Given the description of an element on the screen output the (x, y) to click on. 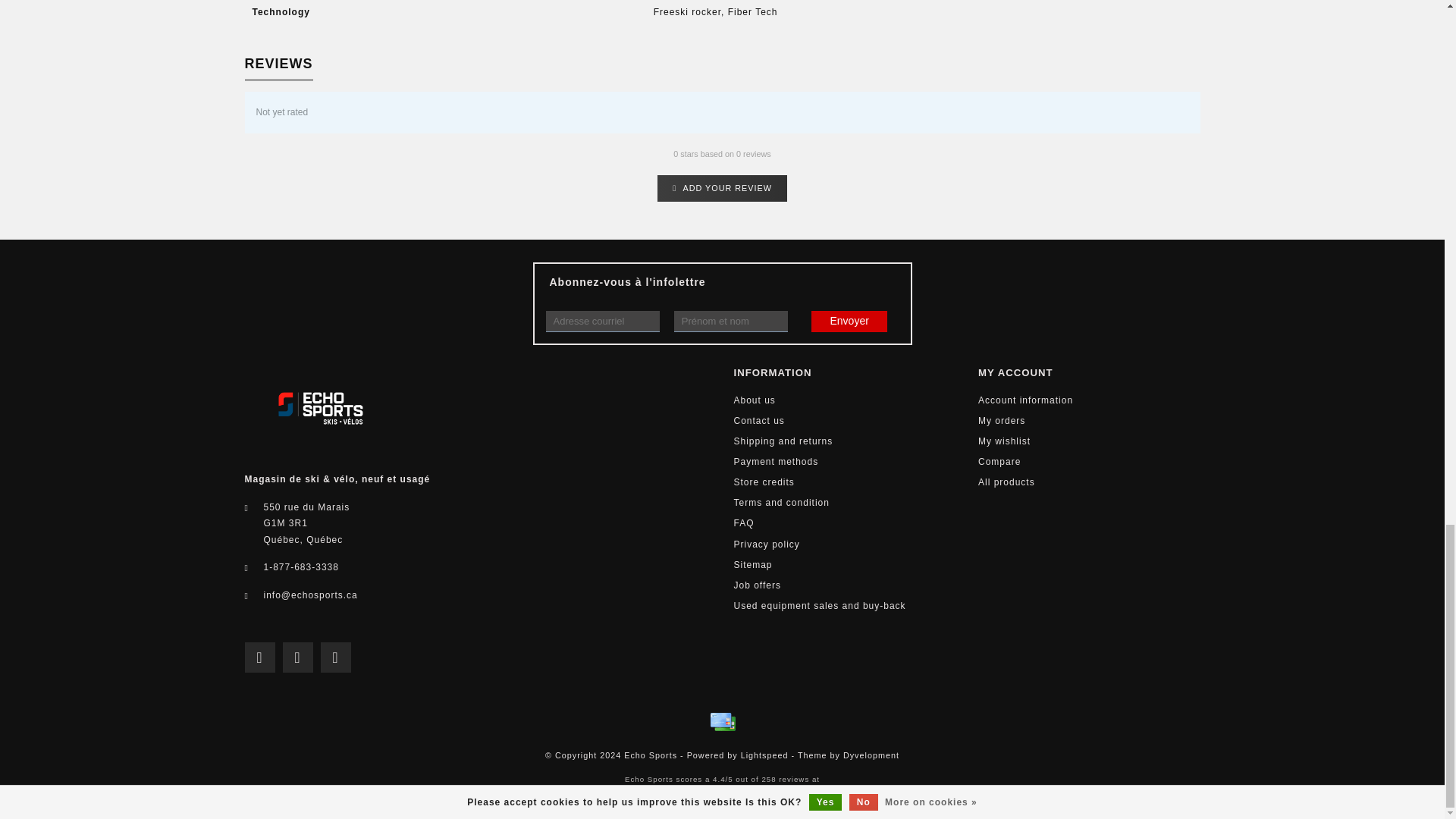
Privacy policy (766, 544)
Shipping and returns (782, 441)
Envoyer (848, 321)
Terms and condition (781, 503)
Store credits (763, 482)
Contact us (758, 421)
About us (754, 400)
Add your review (722, 188)
Payment methods (775, 462)
FAQ (743, 523)
